Given the description of an element on the screen output the (x, y) to click on. 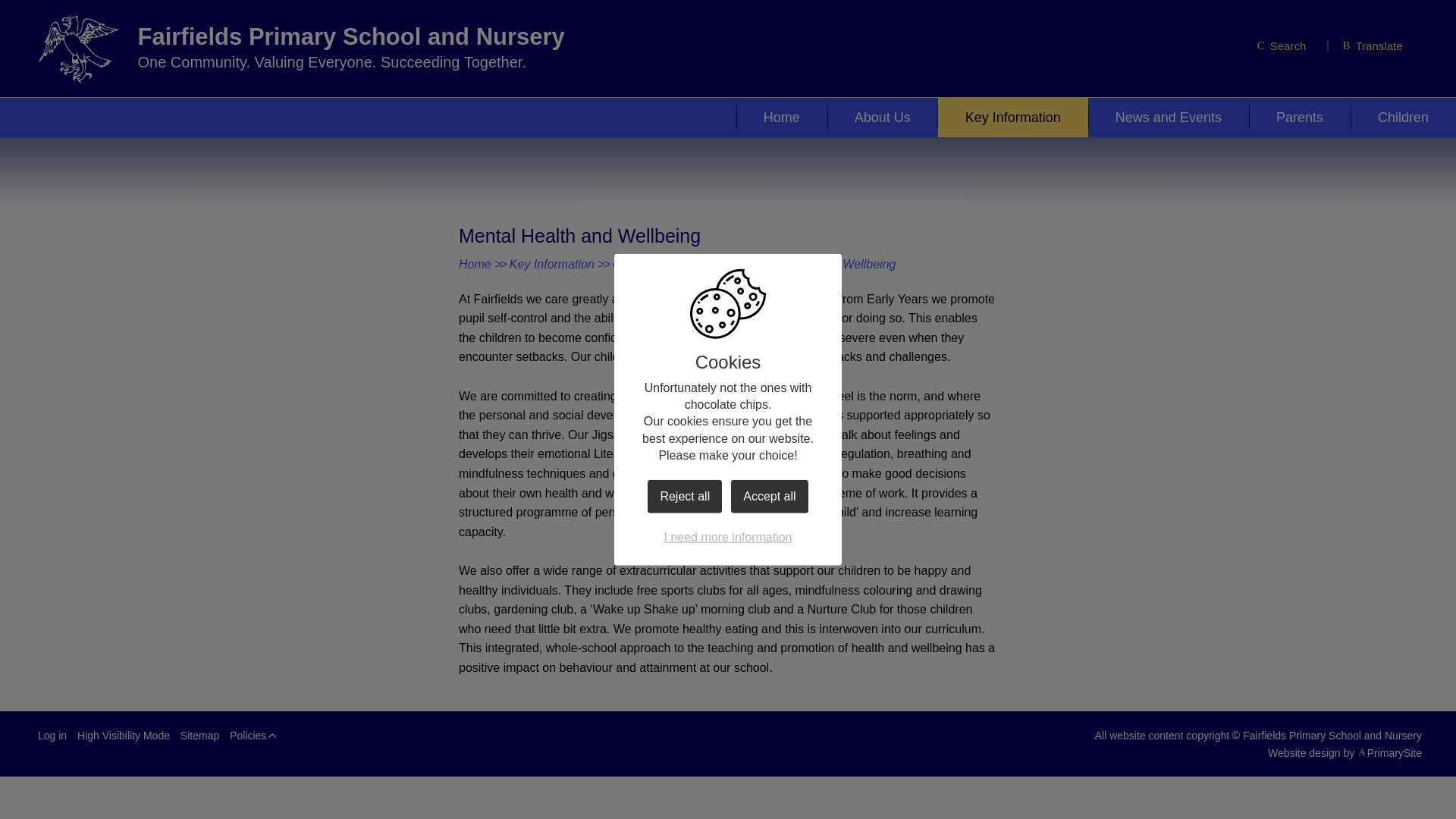
About Us (882, 117)
Home (781, 117)
Home Page (77, 48)
Key Information (1012, 117)
